Given the description of an element on the screen output the (x, y) to click on. 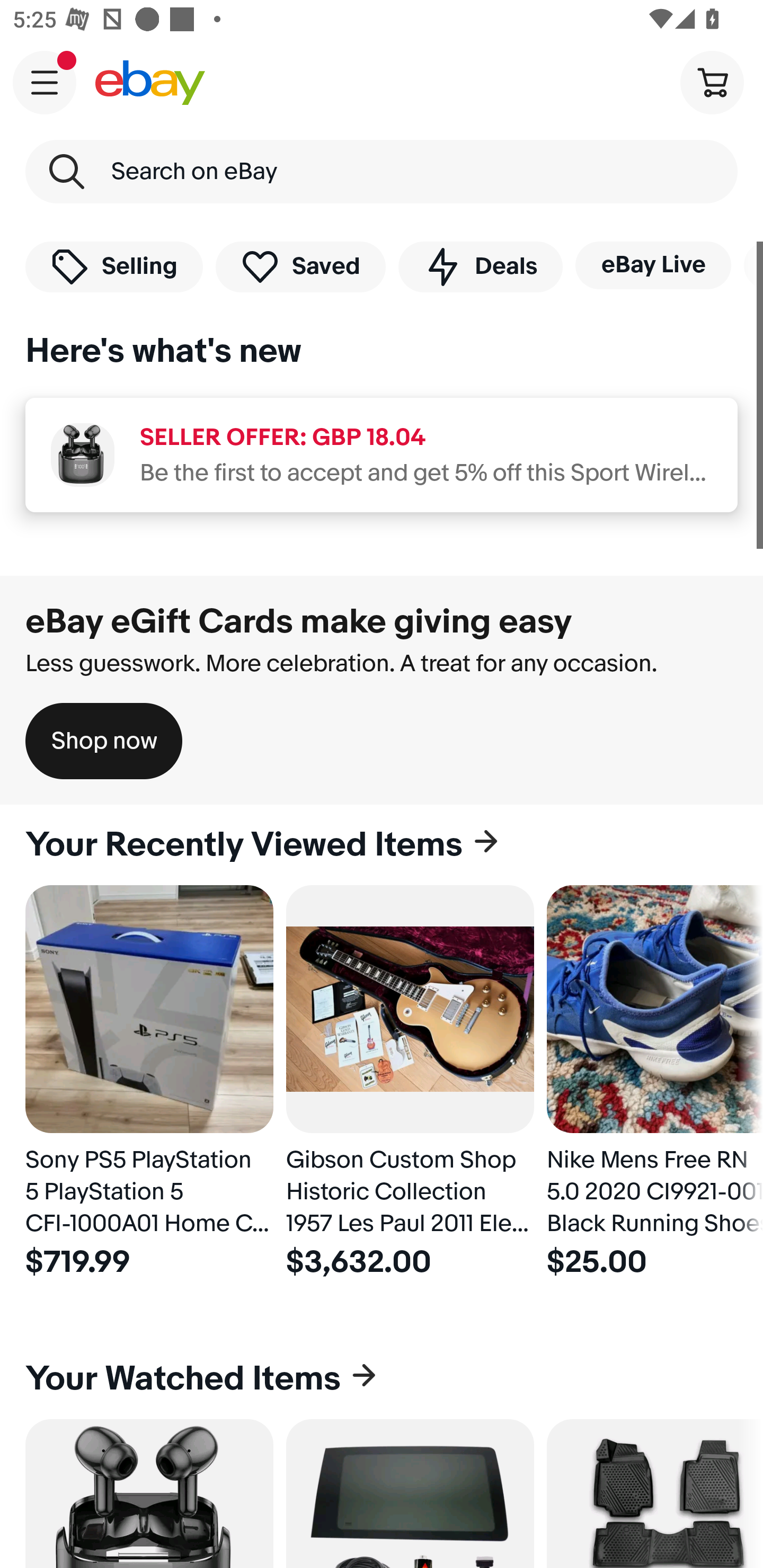
Main navigation, notification is pending, open (44, 82)
Cart button shopping cart (711, 81)
Search on eBay Search Keyword Search on eBay (381, 171)
Selling (113, 266)
Saved (300, 266)
Deals (480, 266)
eBay Live (652, 264)
eBay eGift Cards make giving easy (298, 621)
Shop now (103, 740)
Your Recently Viewed Items   (381, 844)
Your Watched Items   (381, 1379)
